Given the description of an element on the screen output the (x, y) to click on. 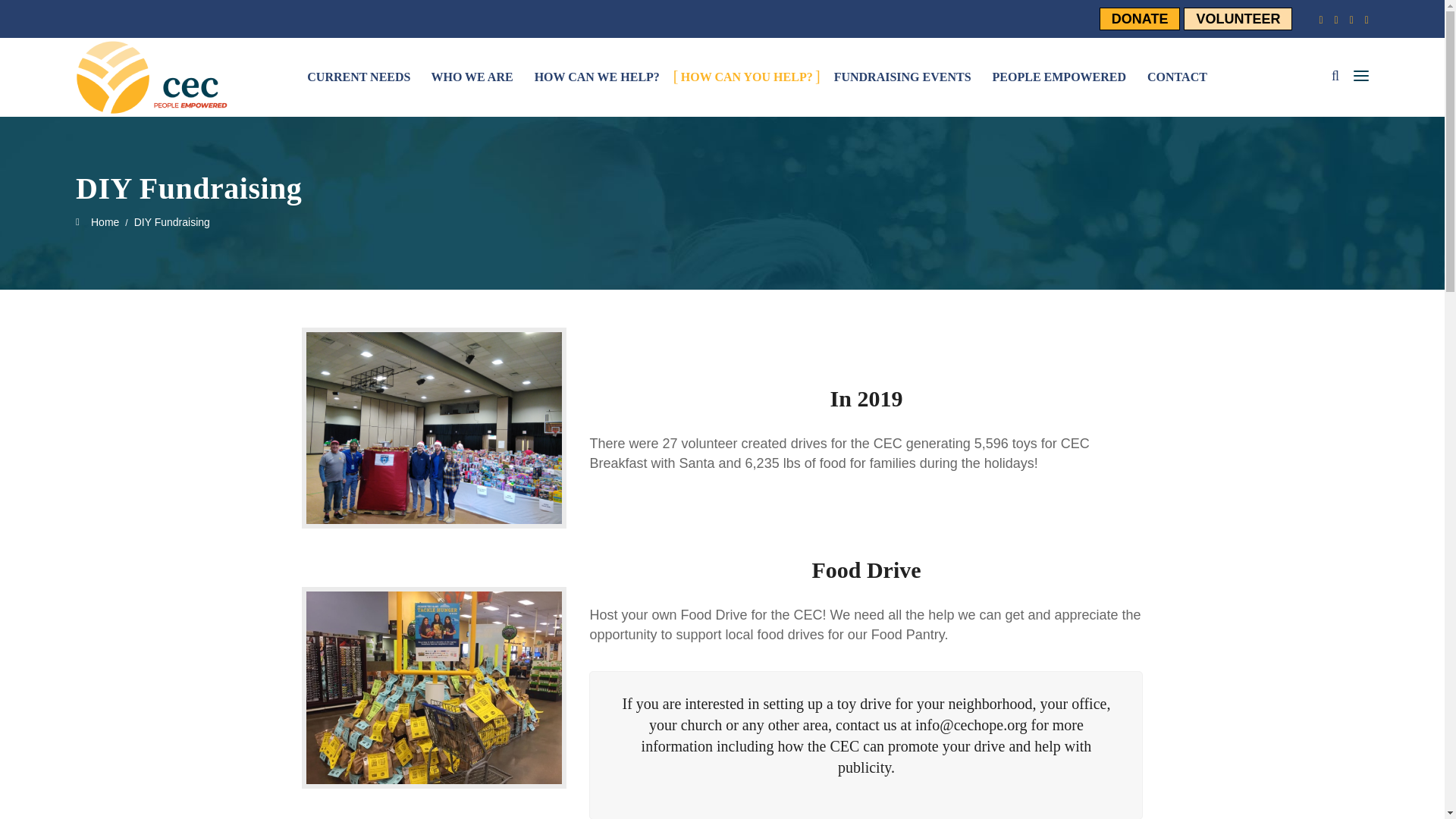
WHO WE ARE (471, 77)
DONATE (1139, 18)
HOW CAN WE HELP? (596, 77)
CURRENT NEEDS (358, 77)
VOLUNTEER (1237, 18)
